Given the description of an element on the screen output the (x, y) to click on. 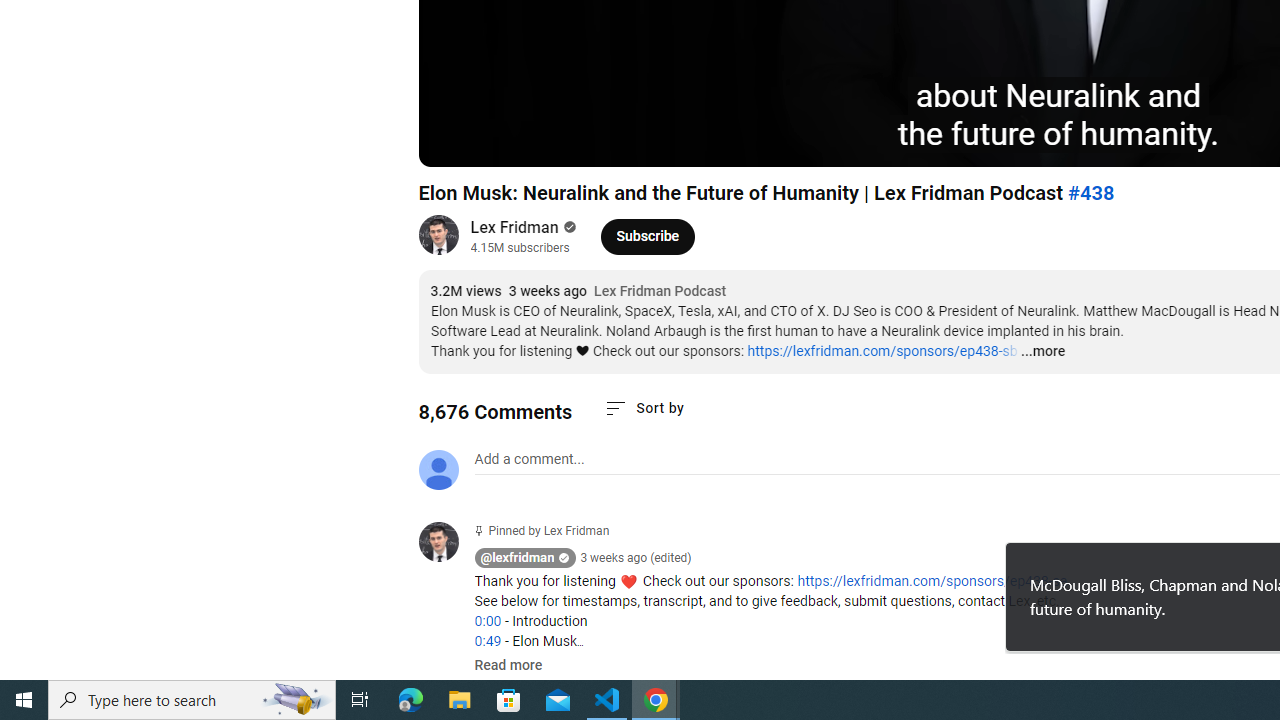
Lex Fridman Podcast (660, 291)
0:00 (487, 621)
@lexfridman (517, 557)
Verified (567, 227)
AutomationID: simplebox-placeholder (528, 459)
0:49 (487, 641)
3 weeks ago (edited) (635, 557)
